Given the description of an element on the screen output the (x, y) to click on. 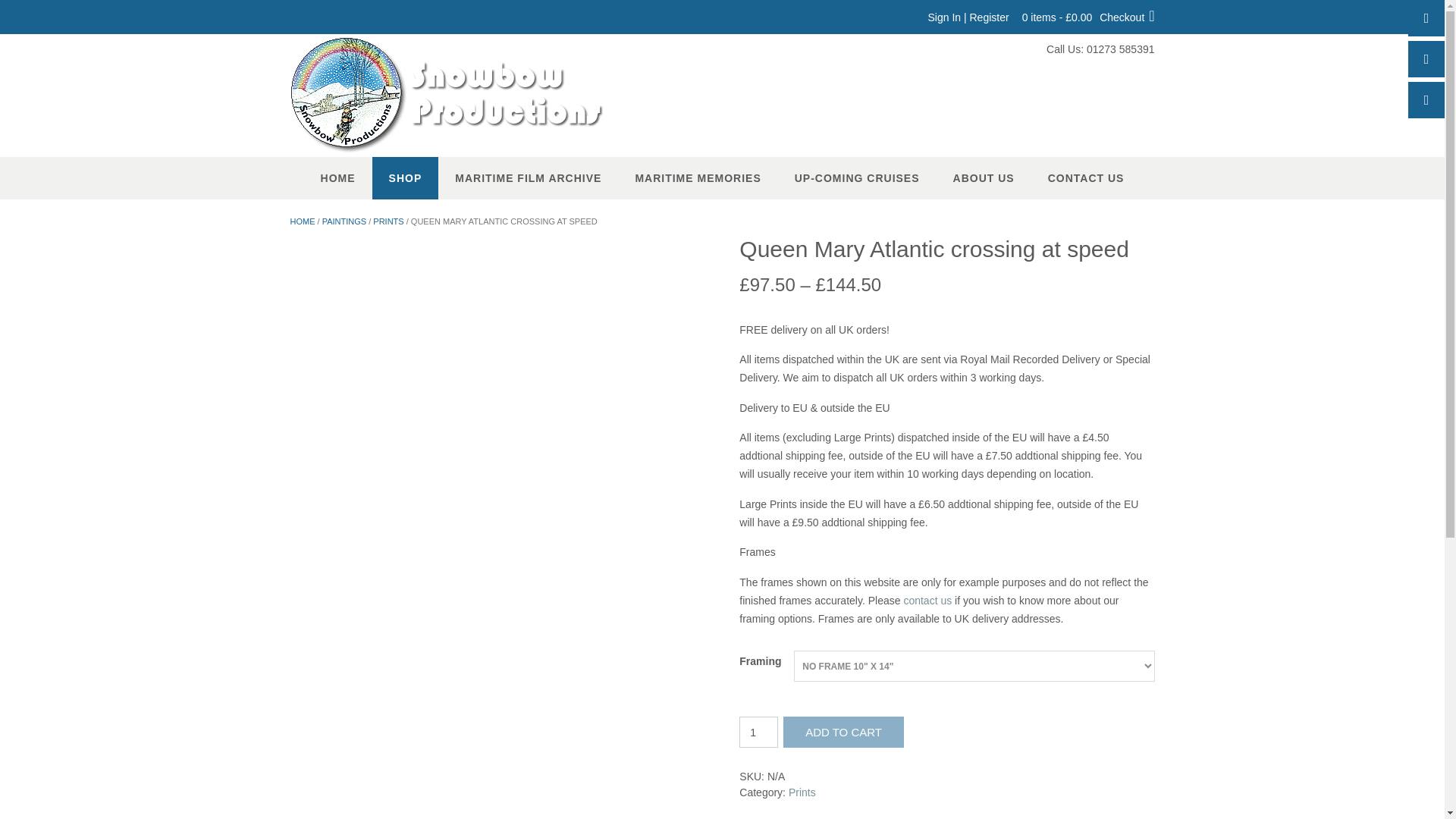
PAINTINGS (343, 221)
SHOP (405, 178)
1 (758, 731)
UP-COMING CRUISES (856, 178)
Prints (802, 792)
CONTACT US (1085, 178)
MARITIME MEMORIES (697, 178)
ADD TO CART (843, 731)
contact us (927, 600)
HOME (338, 178)
MARITIME FILM ARCHIVE (527, 178)
PRINTS (387, 221)
ABOUT US (983, 178)
HOME (301, 221)
Contact us (927, 600)
